Given the description of an element on the screen output the (x, y) to click on. 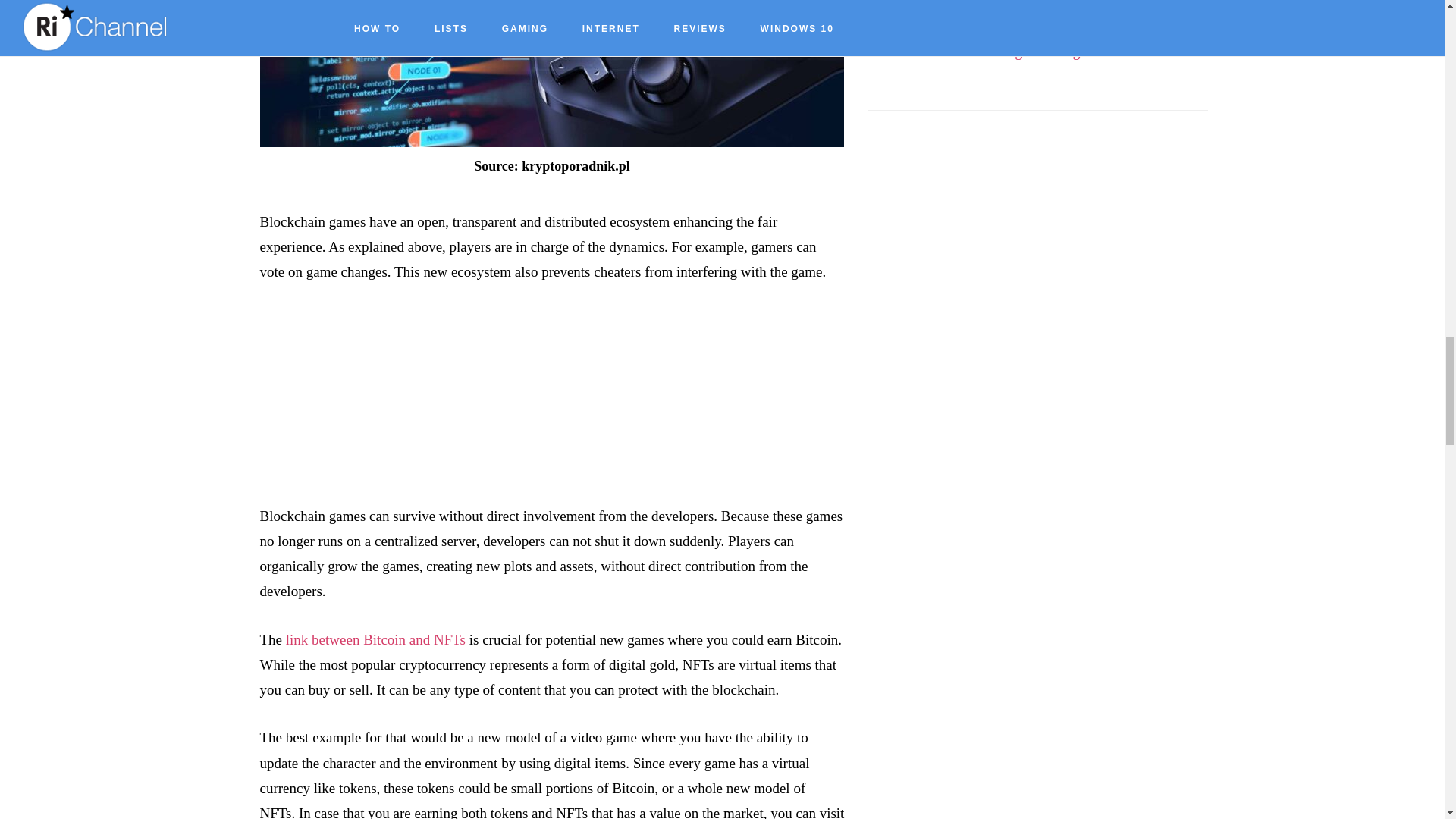
link between Bitcoin and NFTs (375, 639)
